Given the description of an element on the screen output the (x, y) to click on. 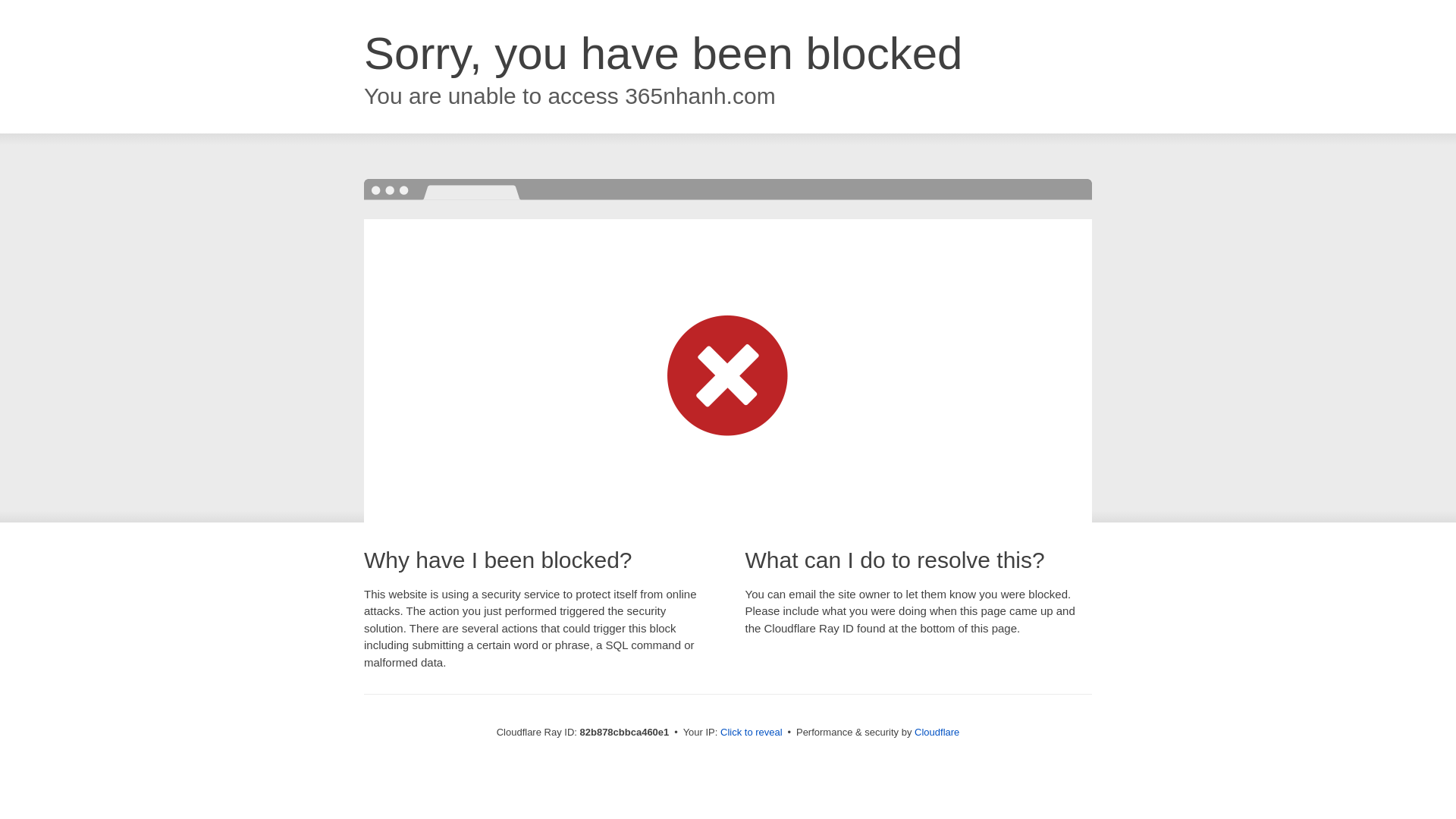
Click to reveal Element type: text (751, 732)
Cloudflare Element type: text (936, 731)
